Given the description of an element on the screen output the (x, y) to click on. 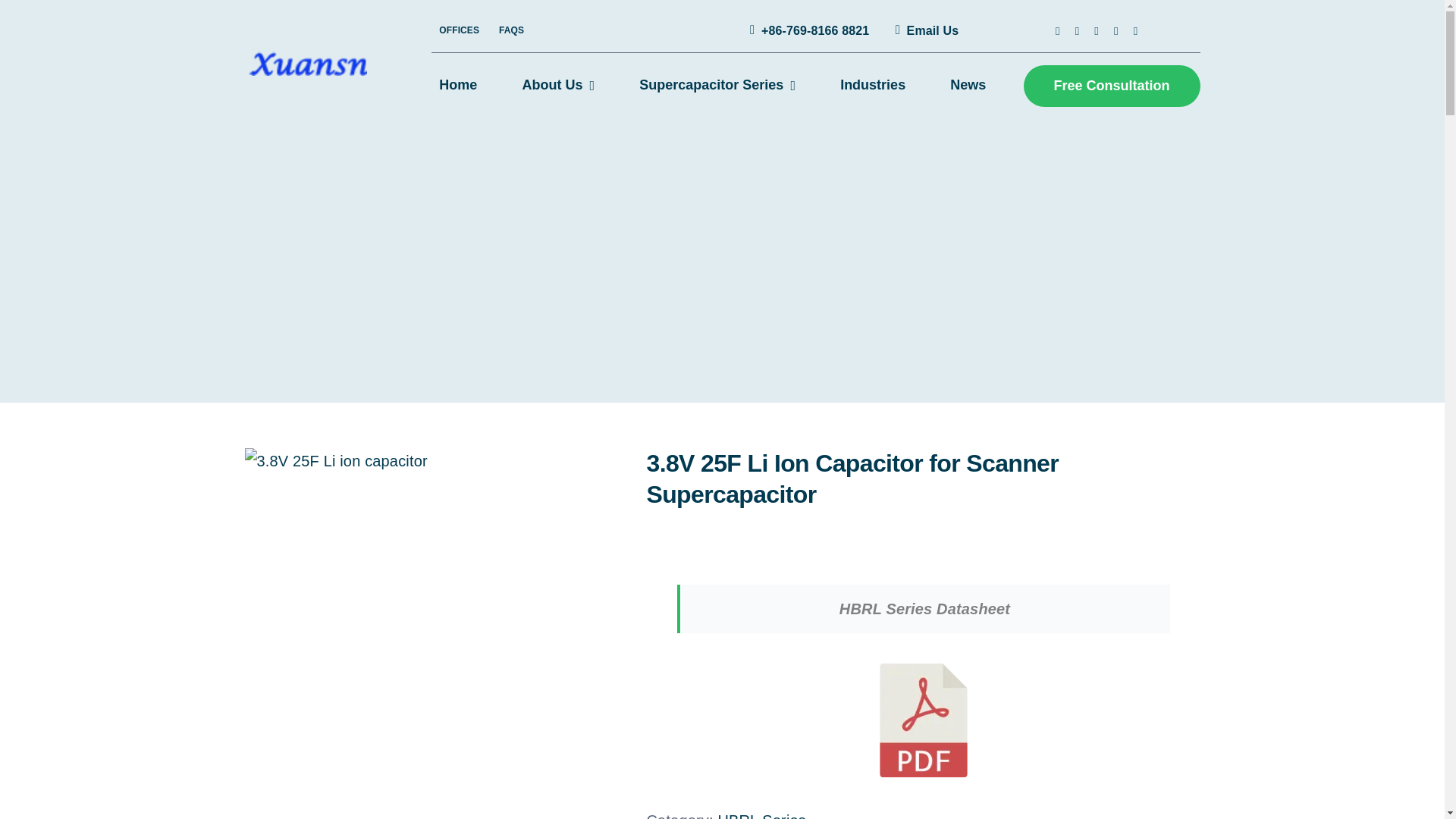
OFFICES (458, 30)
Email Us (923, 30)
Home (457, 86)
FAQS (511, 30)
3.8V 25F Li-ion capacitor (335, 460)
3.8V 25F Li-ion capacitor (433, 460)
About Us (558, 86)
Supercapacitor Series (717, 86)
